Given the description of an element on the screen output the (x, y) to click on. 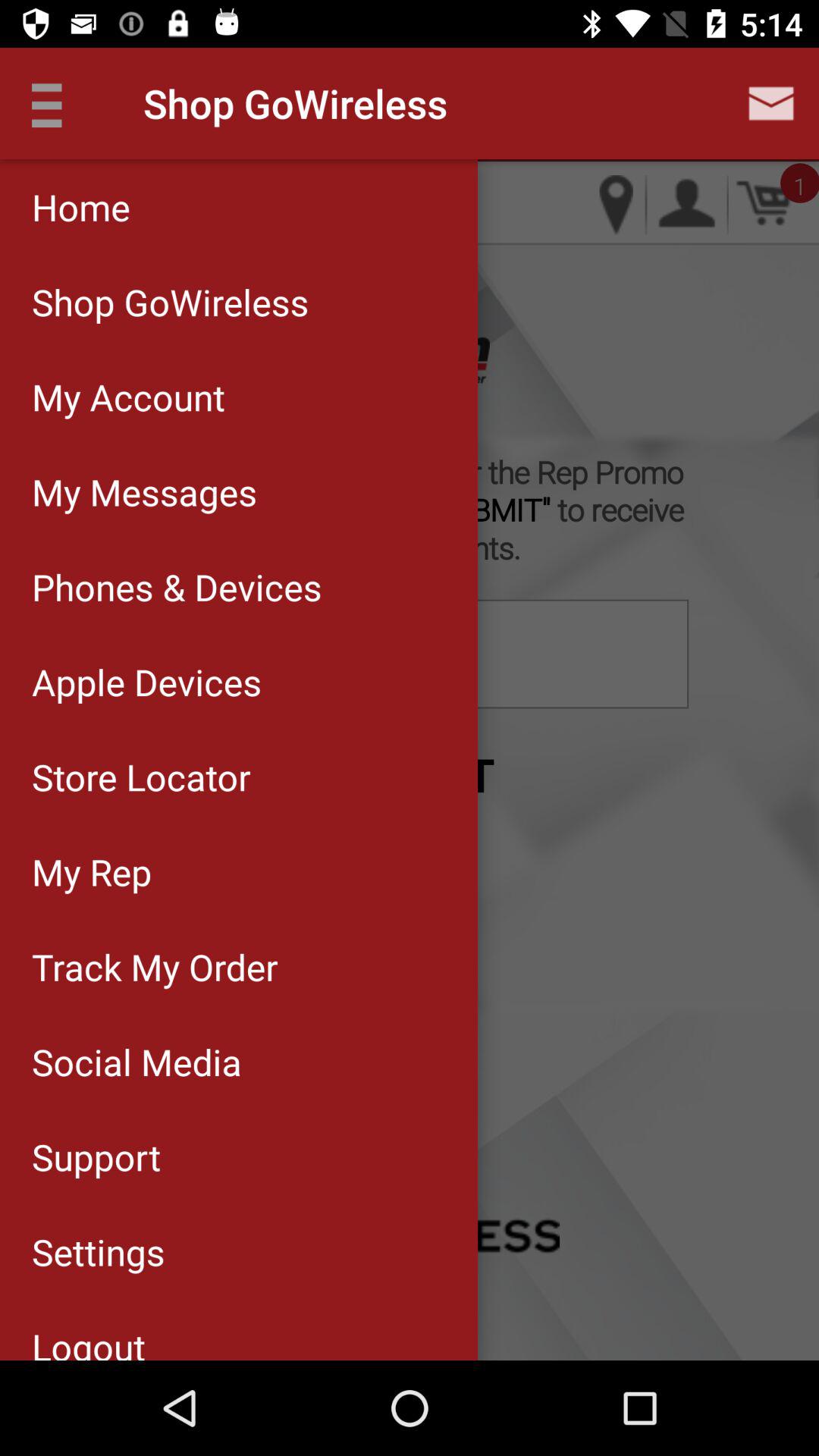
turn on logout icon (238, 1329)
